Given the description of an element on the screen output the (x, y) to click on. 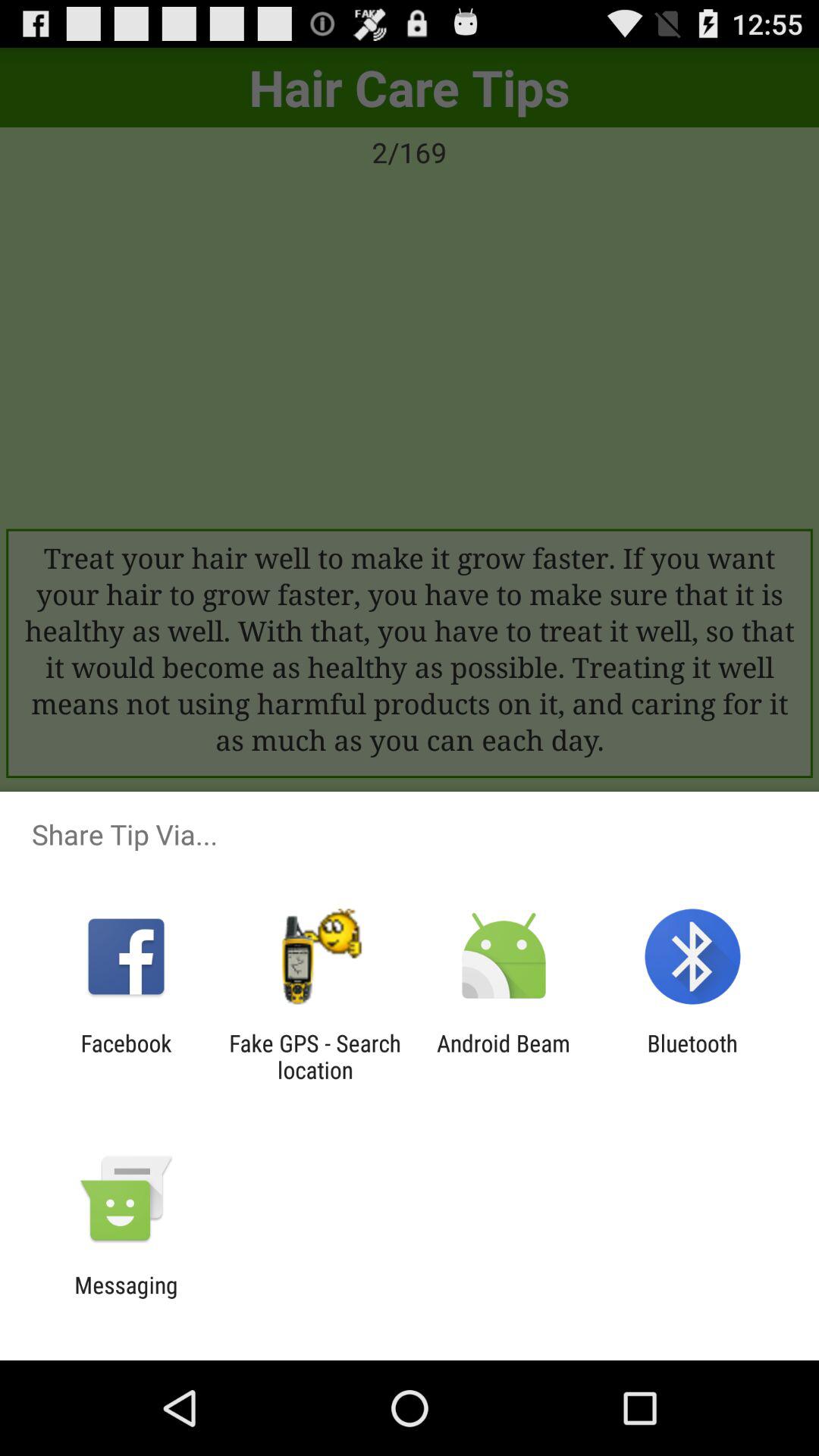
scroll until the fake gps search item (314, 1056)
